Given the description of an element on the screen output the (x, y) to click on. 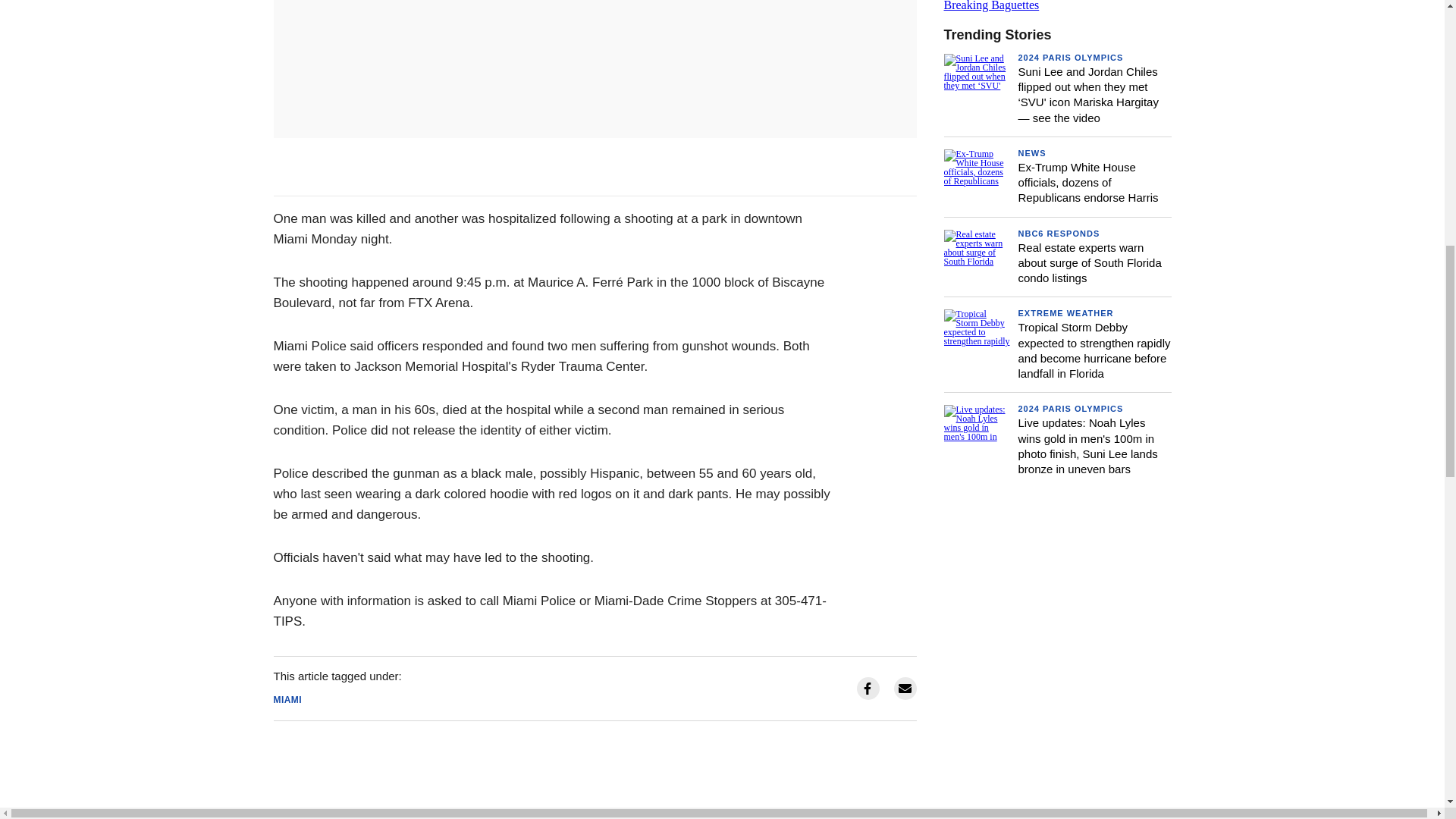
2024 PARIS OLYMPICS (1069, 57)
MIAMI (1056, 5)
